Given the description of an element on the screen output the (x, y) to click on. 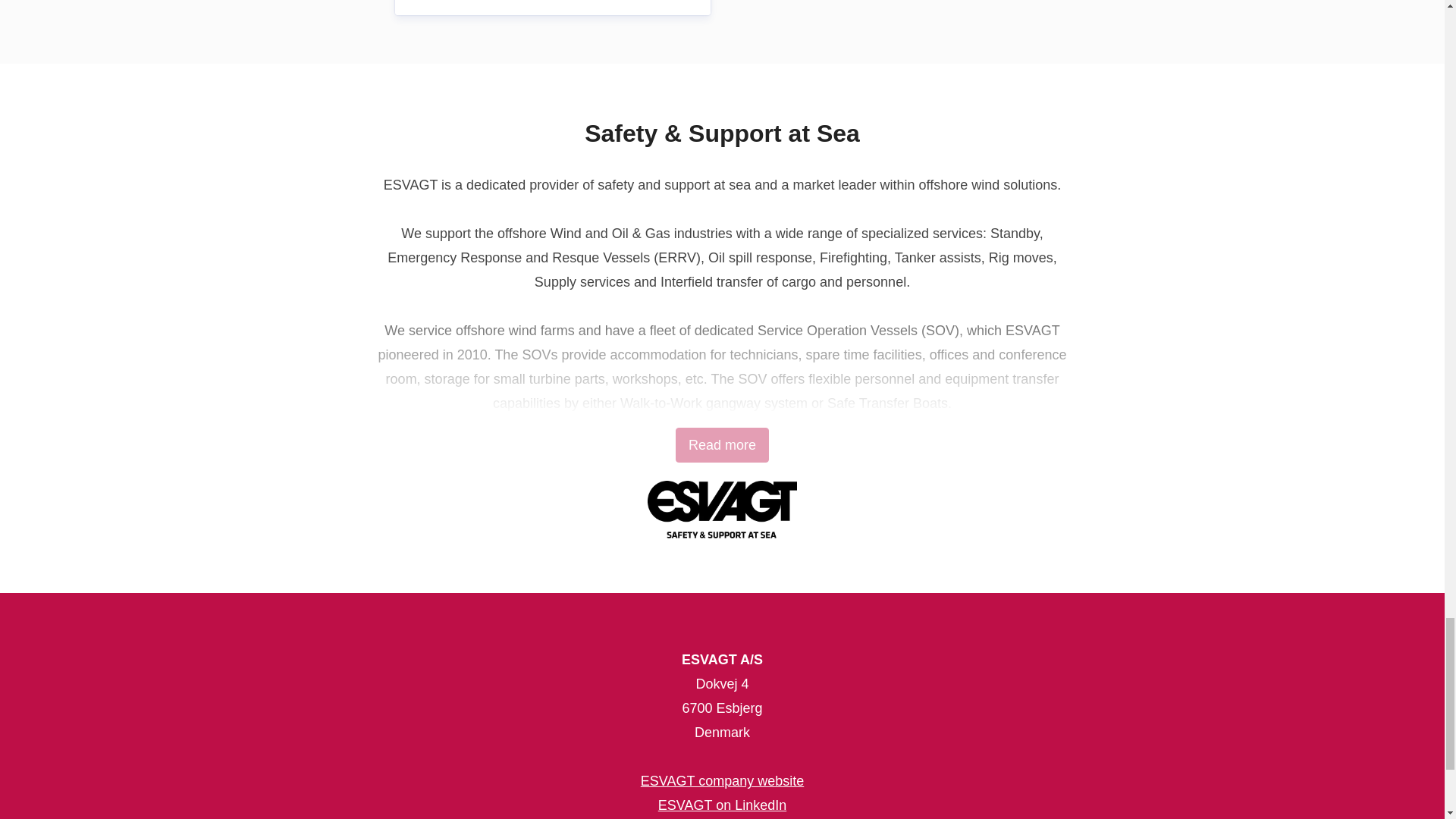
Read more (721, 444)
ESVAGT company website (721, 780)
Digital worksuit system improves safety and overview (552, 7)
ESVAGT on LinkedIn (722, 805)
